Given the description of an element on the screen output the (x, y) to click on. 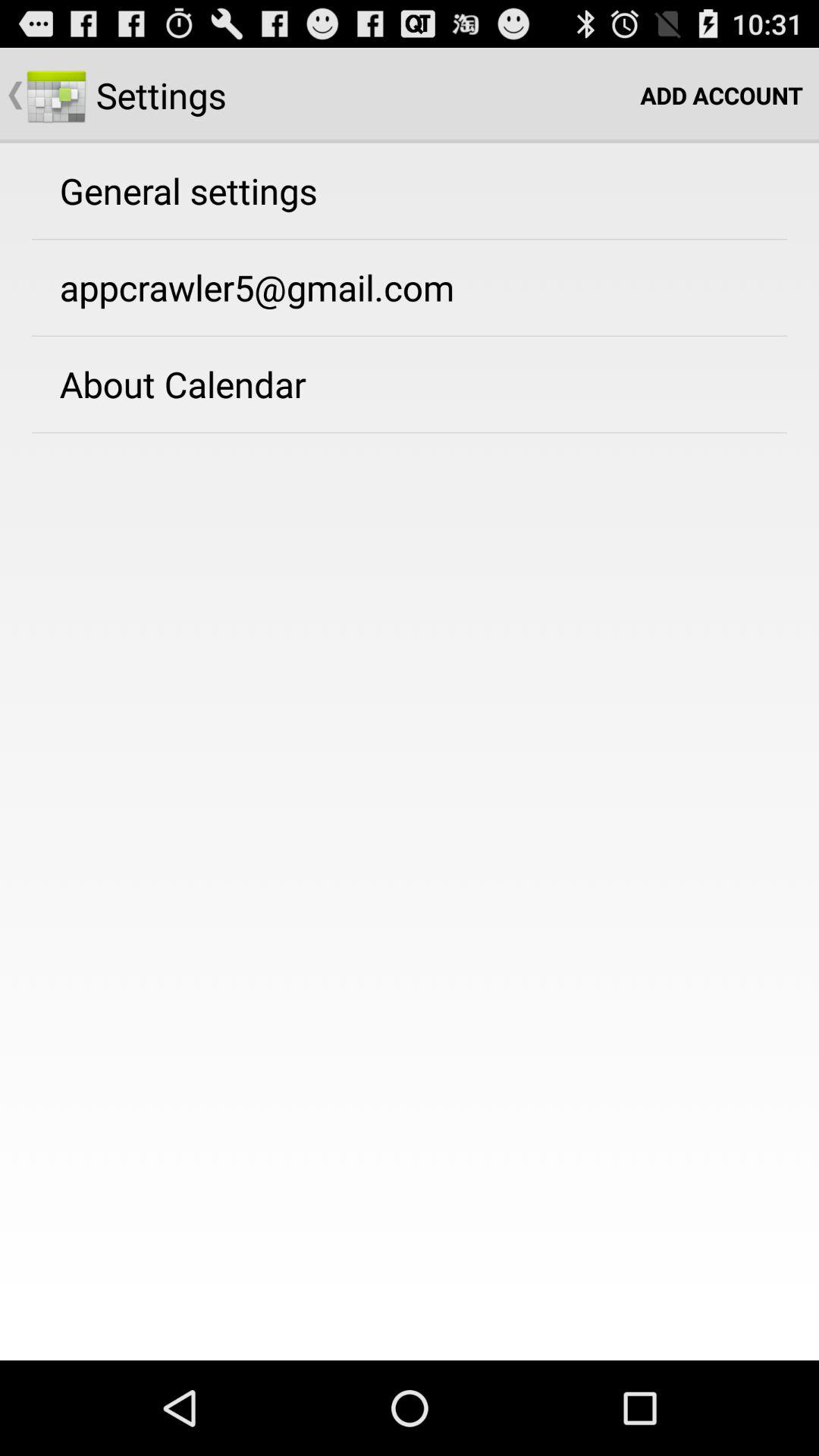
click the app below general settings item (256, 287)
